Given the description of an element on the screen output the (x, y) to click on. 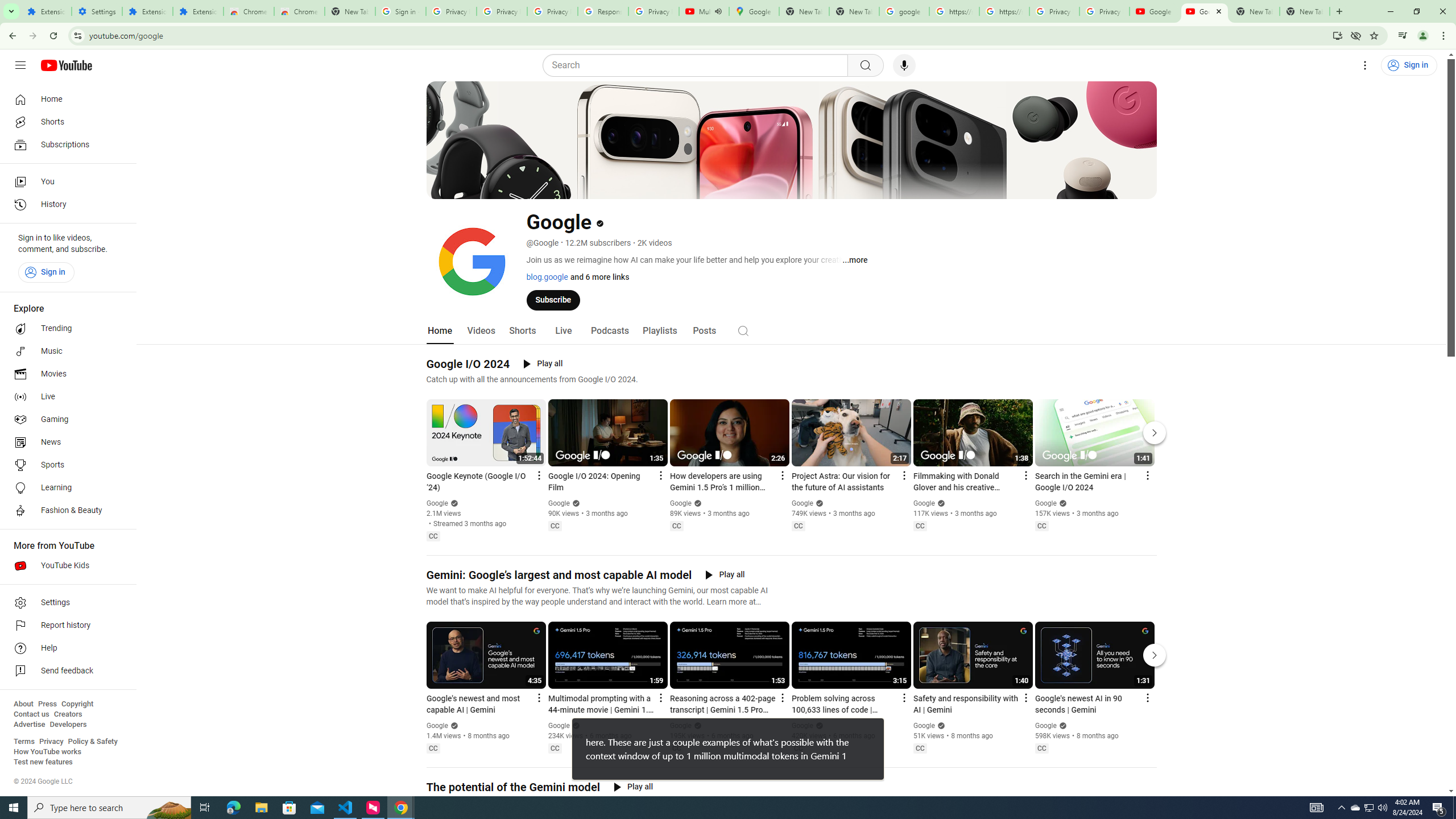
Control your music, videos, and more (1402, 35)
Creators (67, 714)
Podcasts (608, 330)
https://scholar.google.com/ (954, 11)
Google (1046, 725)
Google Maps (753, 11)
Movies (64, 373)
Install YouTube (1336, 35)
Extensions (146, 11)
New Tab (350, 11)
